Given the description of an element on the screen output the (x, y) to click on. 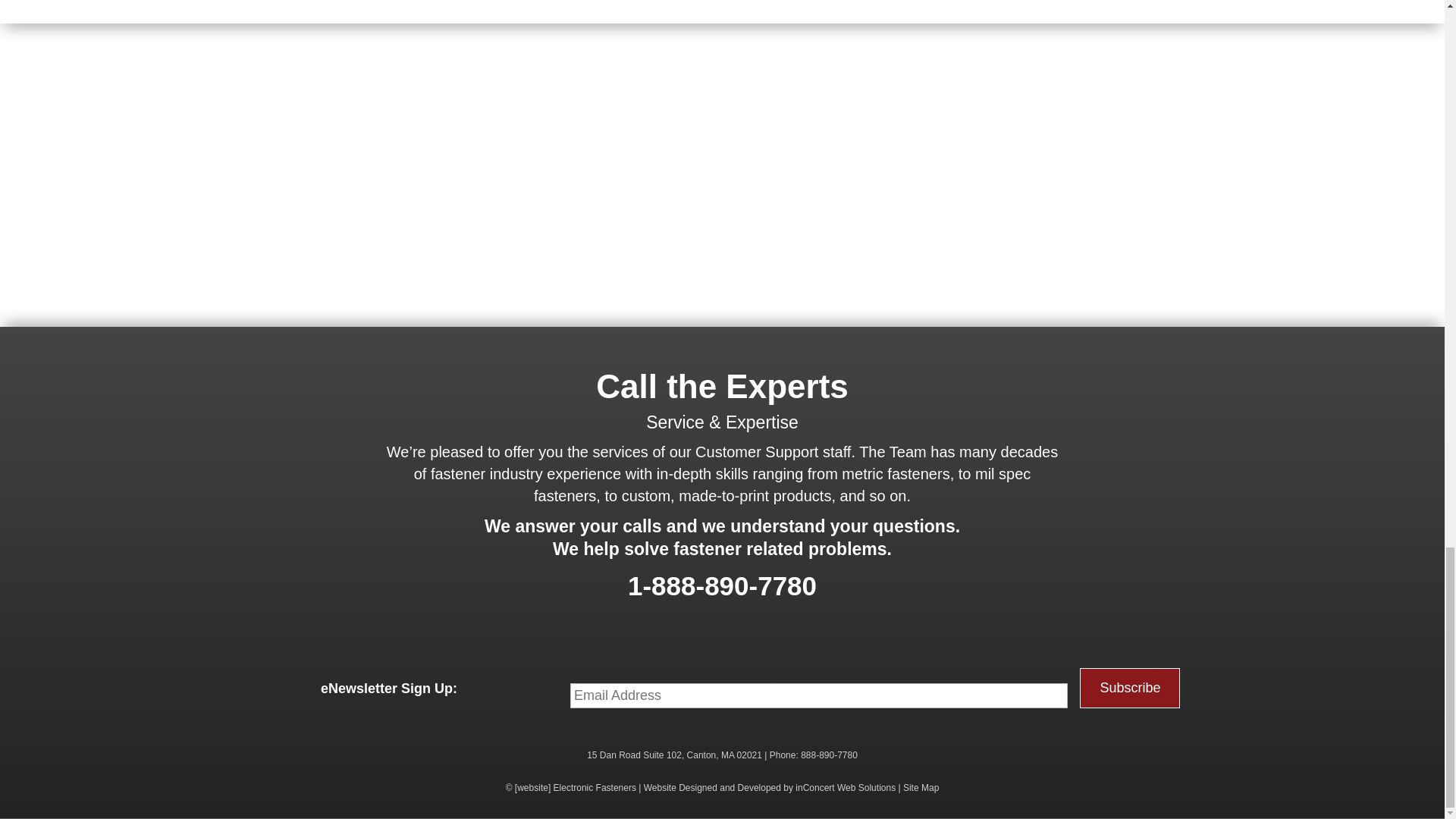
Subscribe (1129, 688)
